Given the description of an element on the screen output the (x, y) to click on. 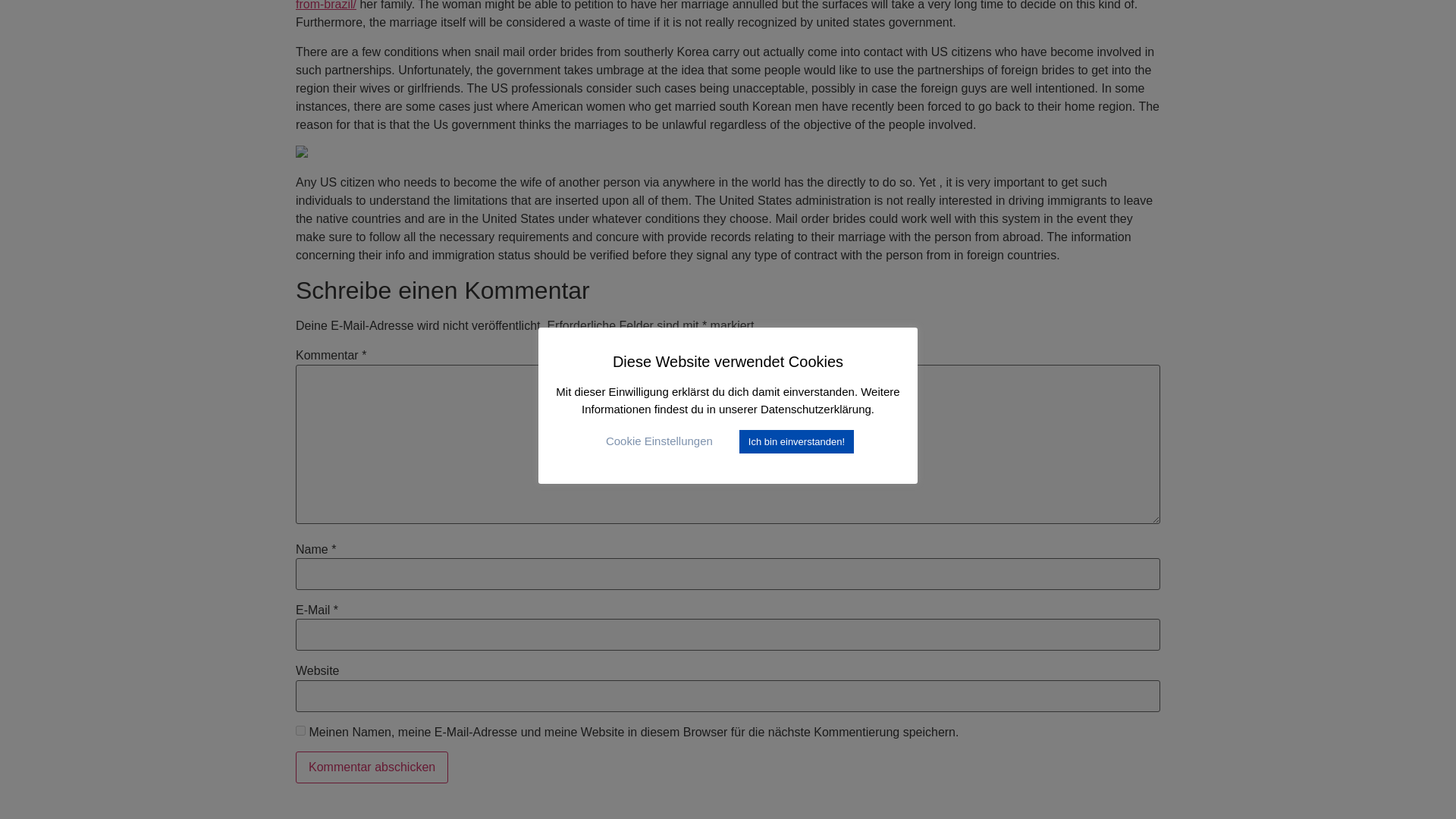
Kommentar abschicken (371, 766)
